Given the description of an element on the screen output the (x, y) to click on. 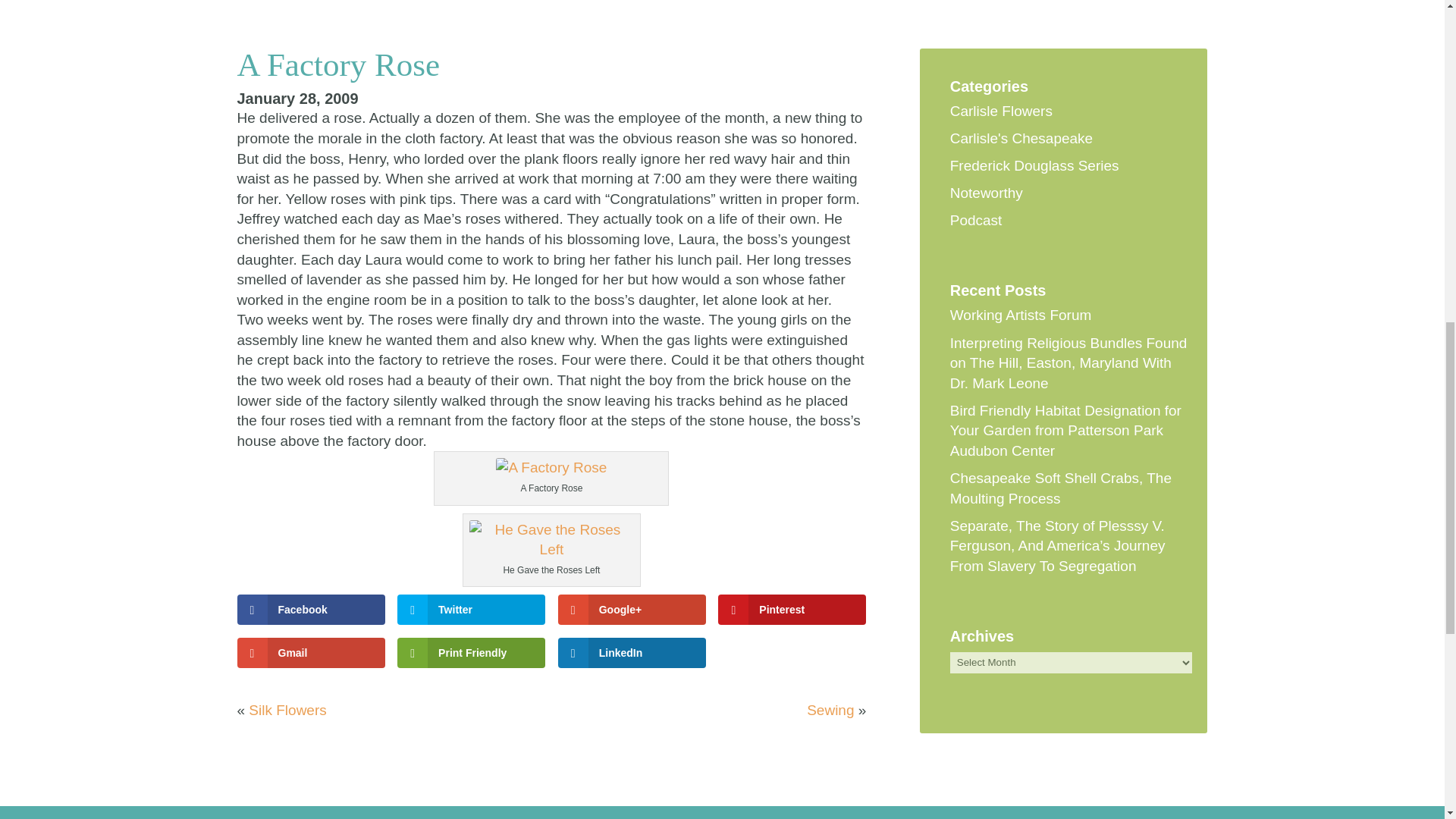
Twitter (470, 609)
Print Friendly (470, 653)
Gmail (309, 653)
CarlisleFlowers.net (550, 540)
Facebook (309, 609)
CarlisleFlowers.net (551, 467)
Pinterest (791, 609)
